Given the description of an element on the screen output the (x, y) to click on. 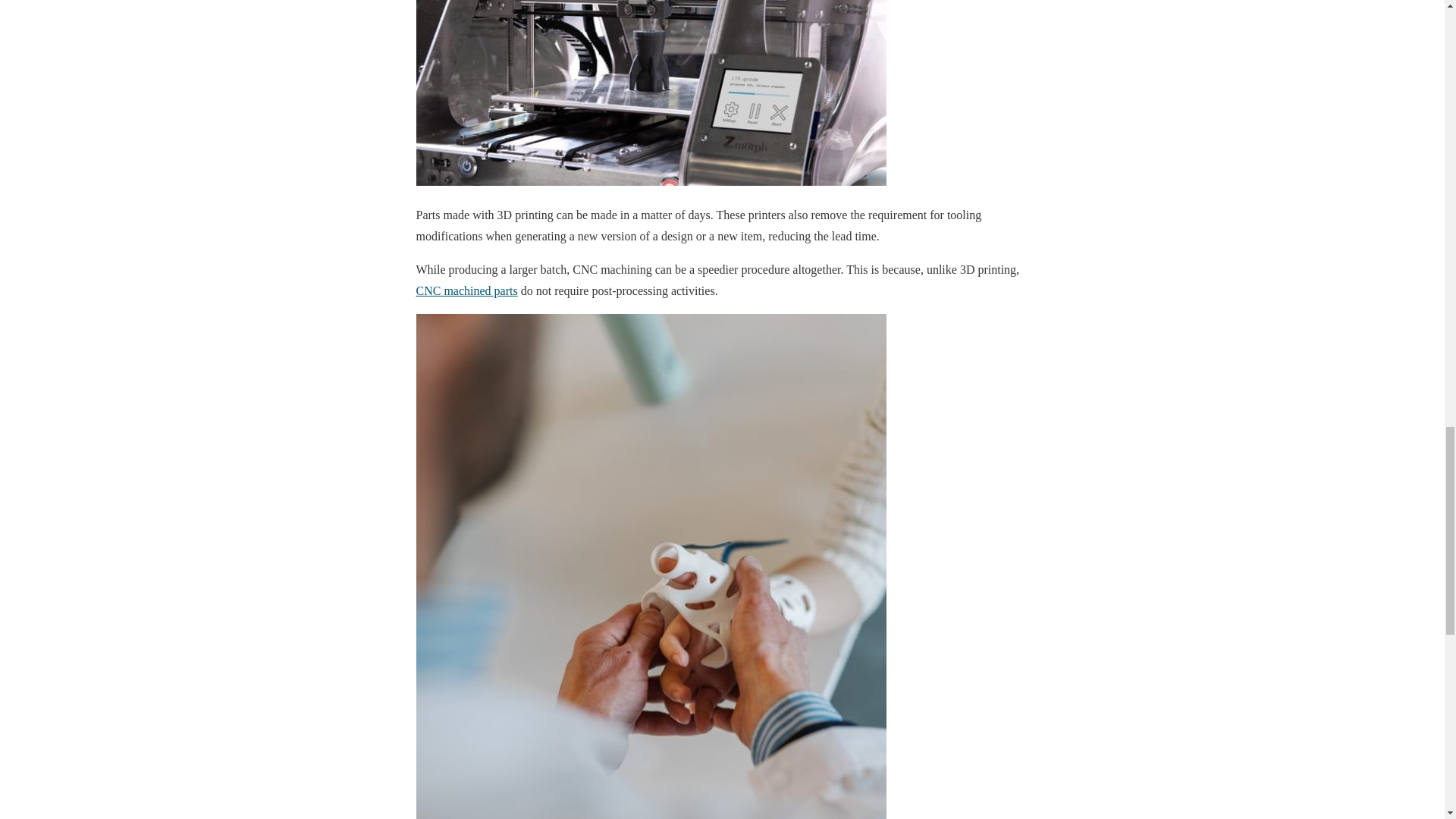
CNC machined parts (465, 290)
